Given the description of an element on the screen output the (x, y) to click on. 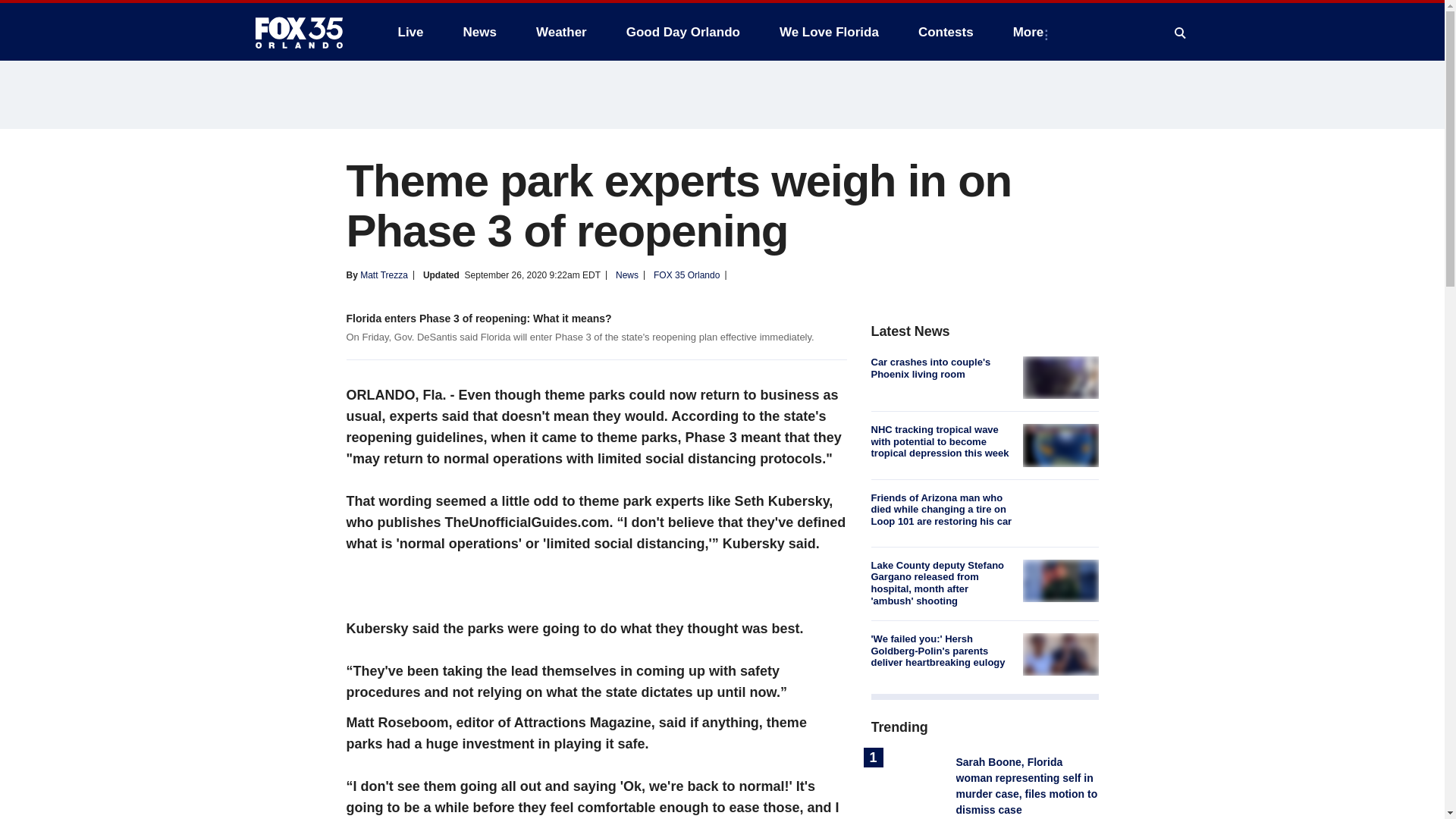
We Love Florida (829, 32)
News (479, 32)
Contests (945, 32)
Good Day Orlando (683, 32)
Live (410, 32)
More (1031, 32)
Weather (561, 32)
